Given the description of an element on the screen output the (x, y) to click on. 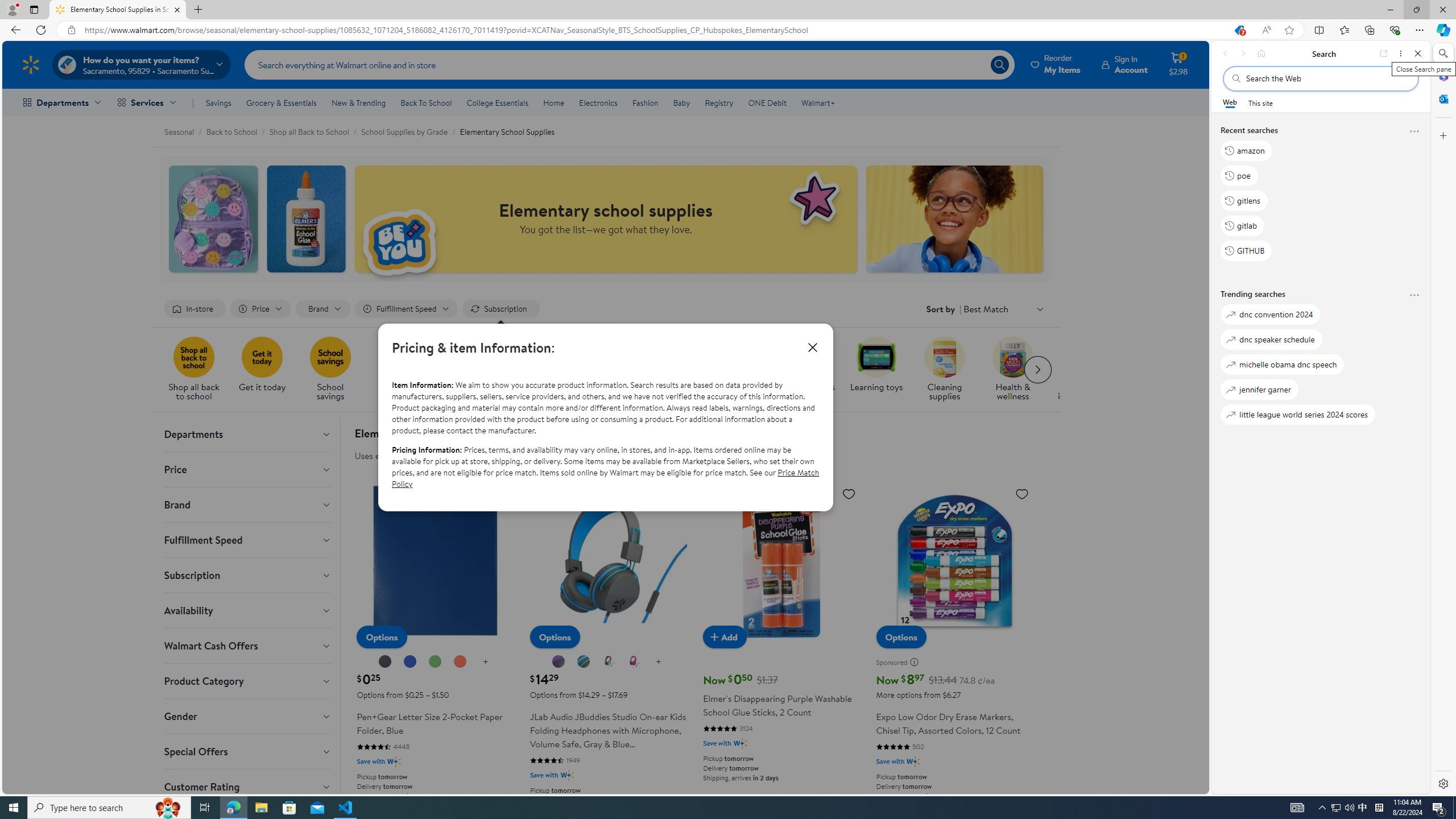
gitlab (1242, 225)
